Given the description of an element on the screen output the (x, y) to click on. 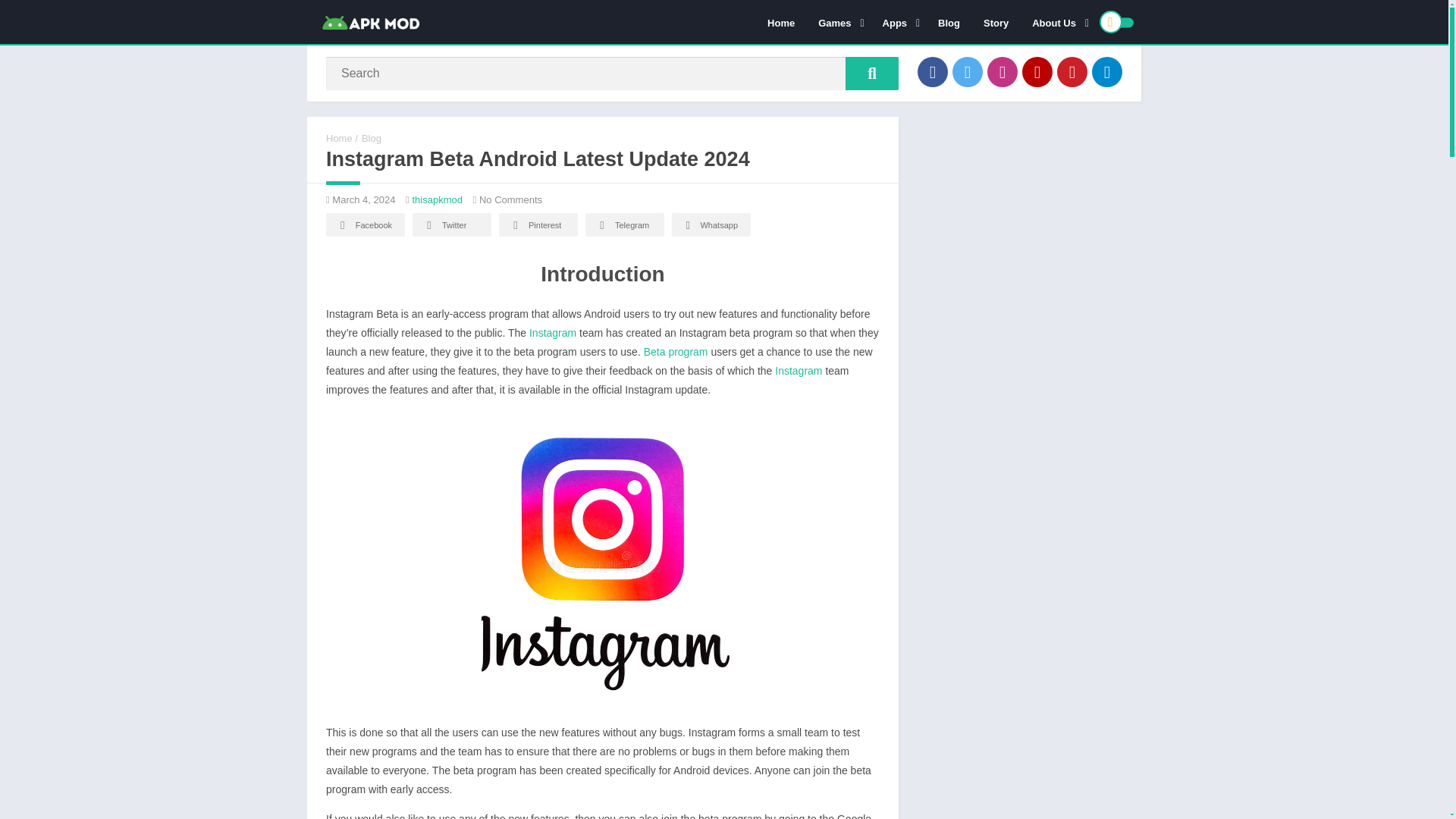
Twitter (967, 71)
Telegram (1107, 71)
YouTube (1037, 71)
Search (871, 73)
Facebook (932, 71)
Instagram (1002, 71)
Home (780, 22)
Pinterest (1072, 71)
